Given the description of an element on the screen output the (x, y) to click on. 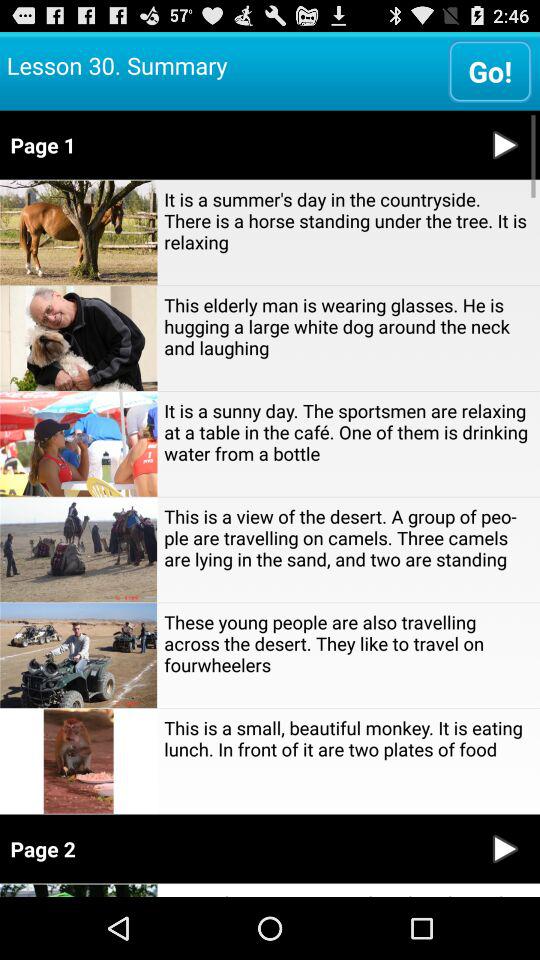
play (505, 144)
